Given the description of an element on the screen output the (x, y) to click on. 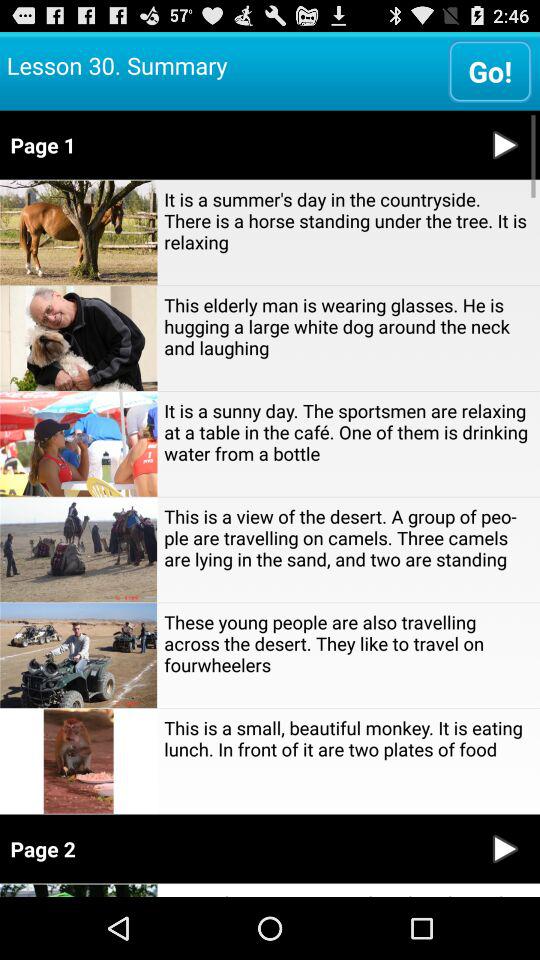
play (505, 144)
